Given the description of an element on the screen output the (x, y) to click on. 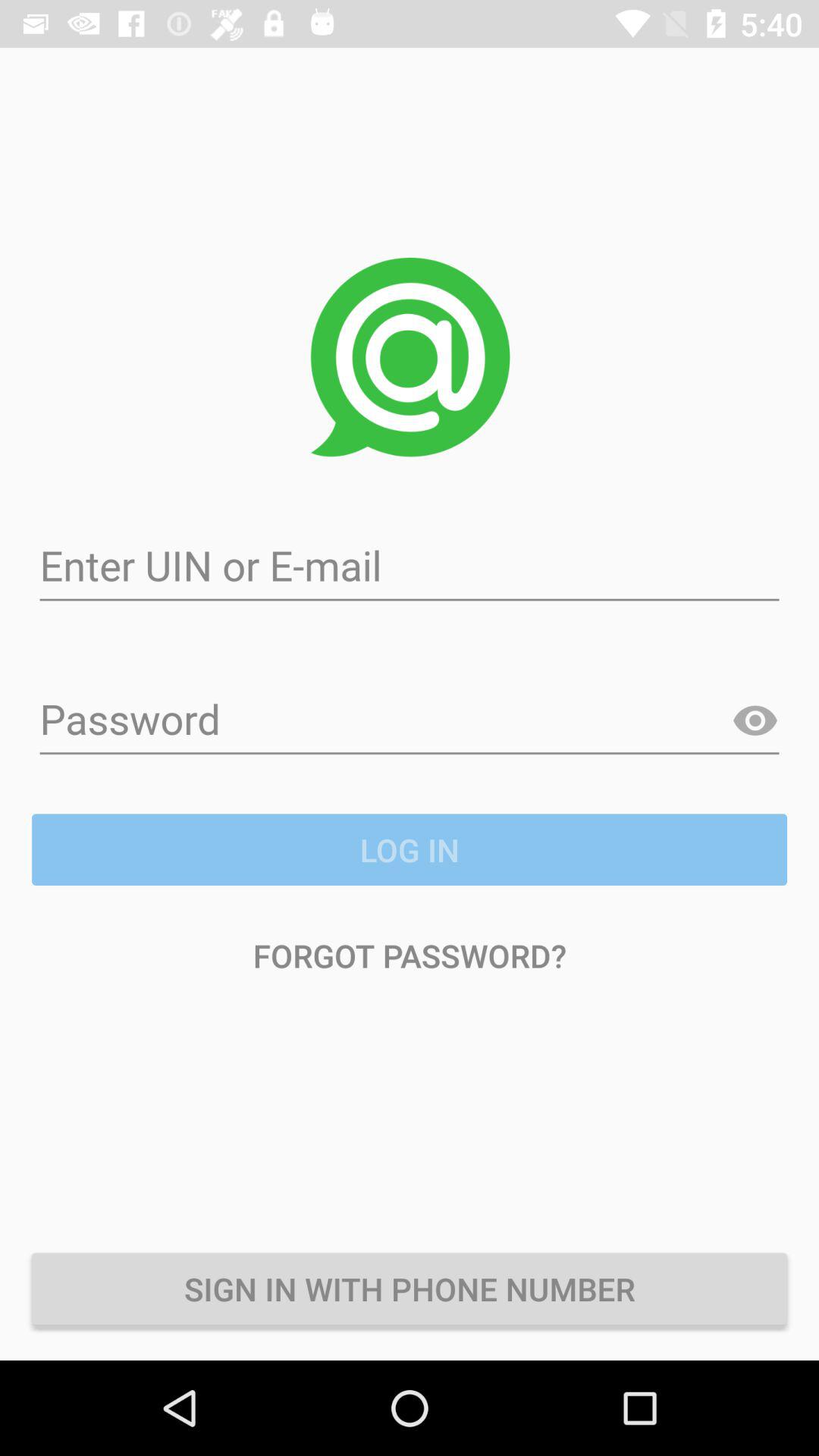
swipe until the log in (409, 849)
